Given the description of an element on the screen output the (x, y) to click on. 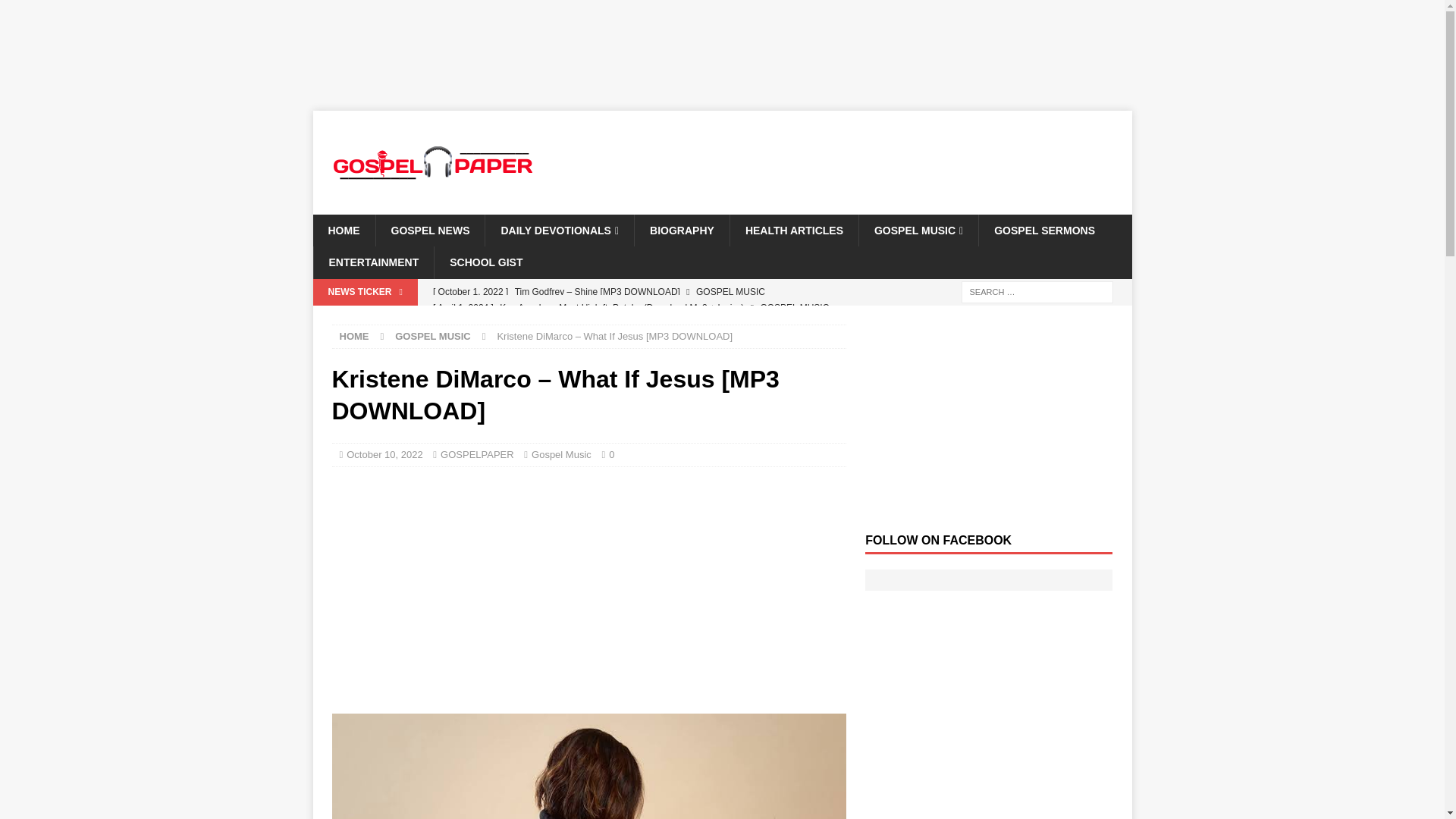
HOME (354, 336)
Advertisement (868, 160)
GOSPEL SERMONS (1043, 230)
Advertisement (588, 52)
BIOGRAPHY (681, 230)
Search (56, 11)
ENTERTAINMENT (373, 262)
SCHOOL GIST (485, 262)
GOSPEL MUSIC (918, 230)
Advertisement (588, 588)
